Given the description of an element on the screen output the (x, y) to click on. 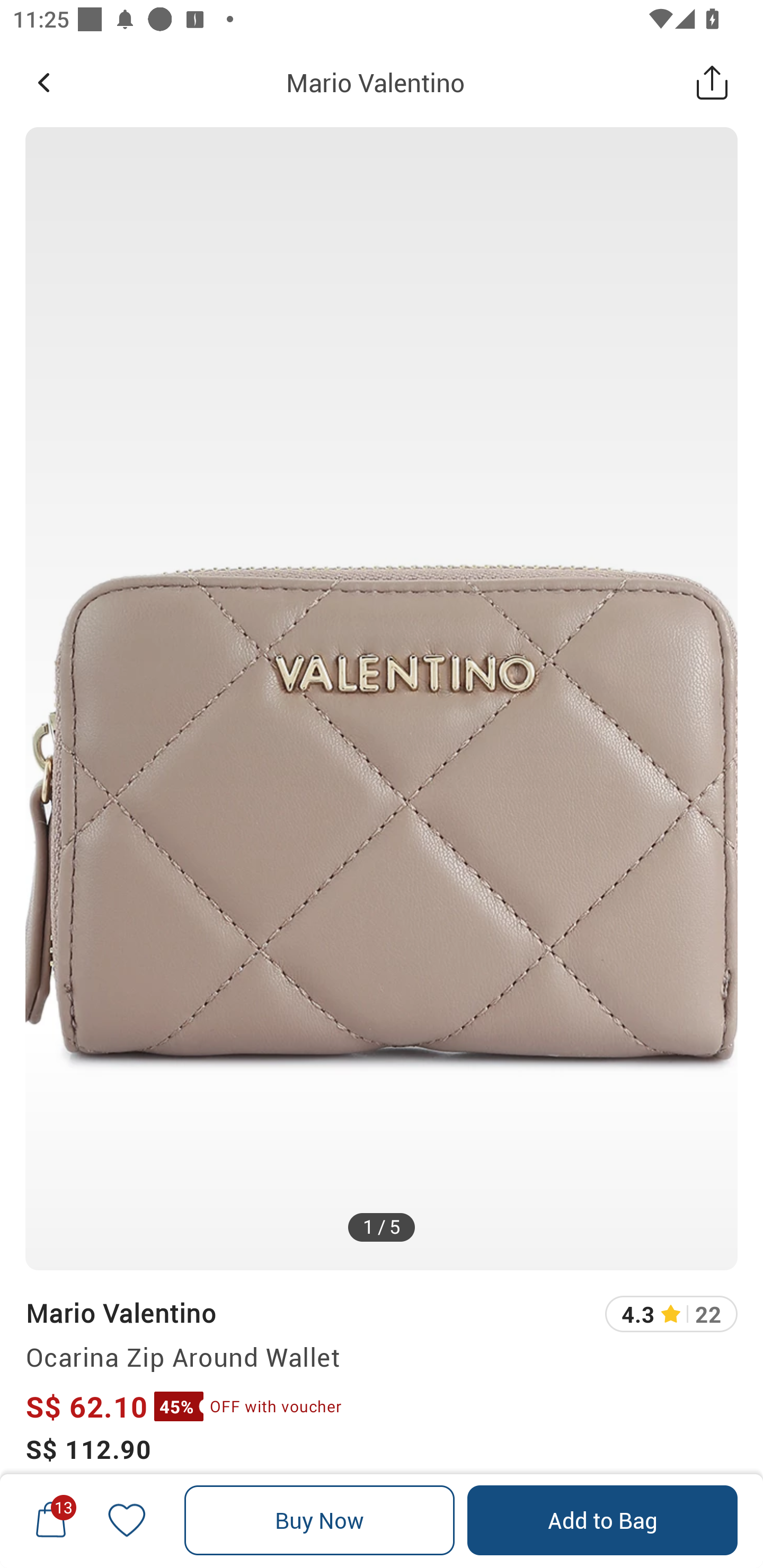
Mario Valentino (375, 82)
Share this Product (711, 82)
Mario Valentino (120, 1312)
4.3 22 (671, 1313)
Buy Now (319, 1519)
Add to Bag (601, 1519)
13 (50, 1520)
